Given the description of an element on the screen output the (x, y) to click on. 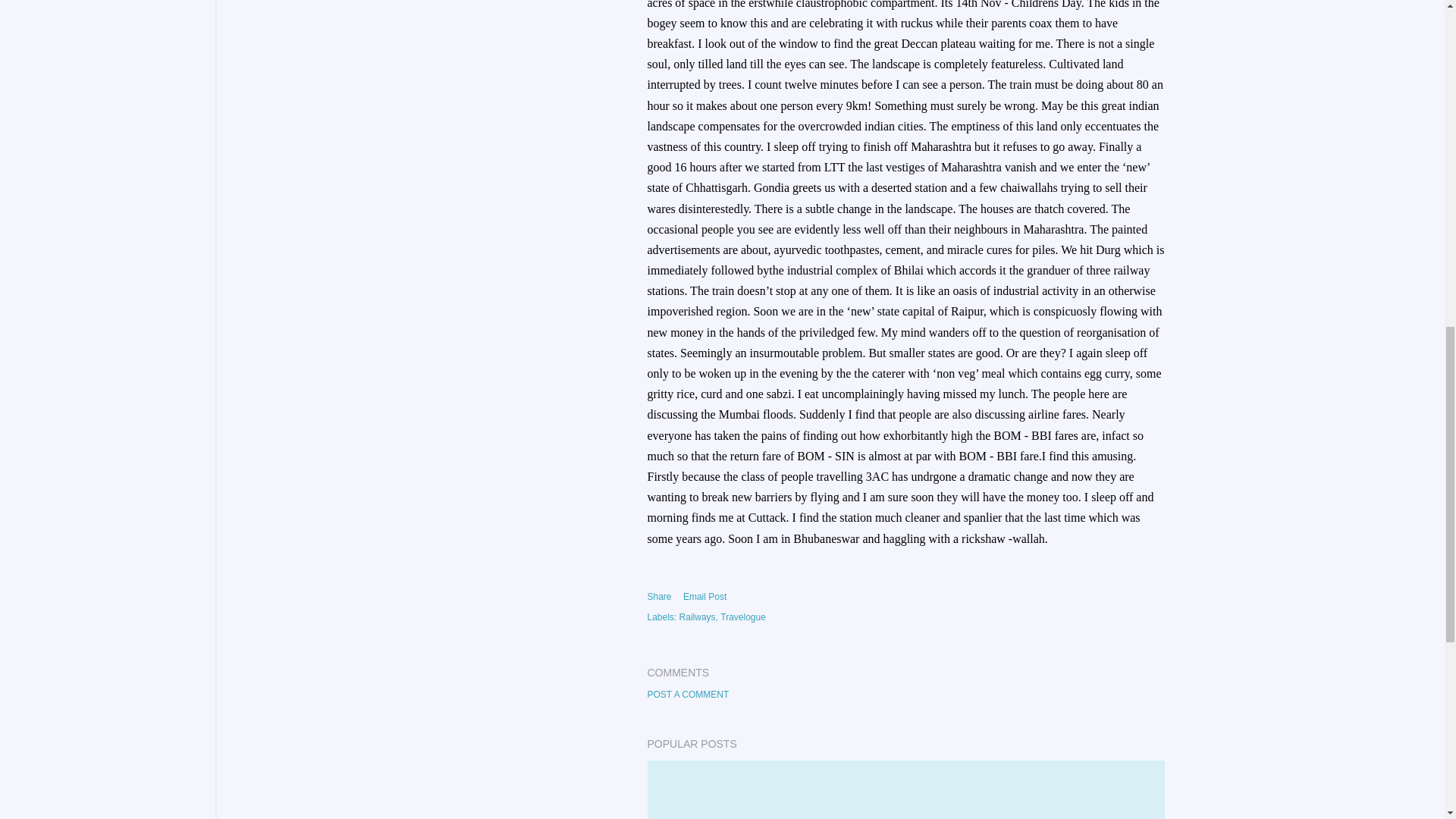
Railways (698, 616)
POST A COMMENT (688, 694)
Email Post (704, 596)
Share (659, 596)
Travelogue (742, 616)
